Given the description of an element on the screen output the (x, y) to click on. 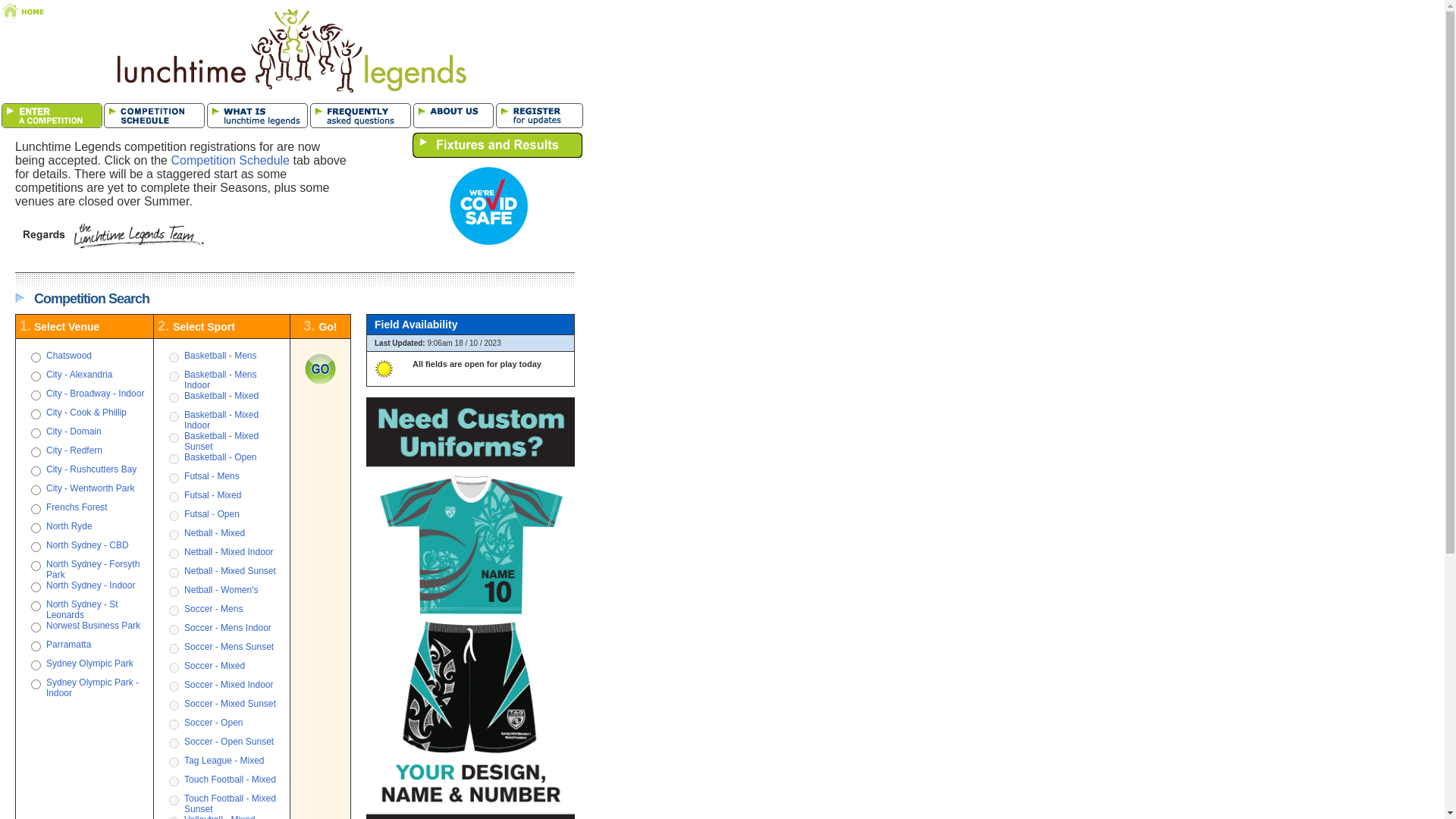
Basketball - Open Element type: text (220, 456)
City - Rushcutters Bay Element type: text (91, 469)
199943 Element type: text (35, 414)
Soccer - Mens Indoor Element type: text (227, 627)
Futsal - Open Element type: text (211, 513)
Netball - Women's Element type: text (220, 589)
10002 Element type: text (35, 627)
49686 Element type: text (35, 587)
238589 Element type: text (35, 452)
North Sydney - Indoor Element type: text (90, 585)
Regards The Lunchtime Legends Team Element type: hover (110, 236)
Basketball - Mixed Sunset Element type: text (221, 440)
127 Element type: text (35, 357)
294565 Element type: text (35, 547)
83 Element type: text (35, 433)
Soccer - Open Sunset Element type: text (228, 741)
Competition Schedule Element type: text (229, 159)
294566 Element type: text (35, 606)
126 Element type: text (35, 665)
City - Alexandria Element type: text (79, 374)
Netball - Mixed Sunset Element type: text (230, 570)
Soccer - Open Element type: text (213, 722)
City - Broadway - Indoor Element type: text (95, 393)
Soccer - Mixed Sunset Element type: text (230, 703)
49593 Element type: text (35, 490)
City - Redfern Element type: text (74, 450)
Basketball - Mixed Indoor Element type: text (221, 419)
Tag League - Mixed Element type: text (223, 760)
49674 Element type: text (35, 471)
We are a COVID Safe Business Element type: hover (479, 243)
Parramatta Element type: text (68, 644)
Futsal - Mixed Element type: text (212, 494)
North Ryde Element type: text (69, 525)
Touch Football - Mixed Element type: text (230, 779)
Netball - Mixed Indoor Element type: text (228, 551)
125 Element type: text (35, 509)
North Sydney - Forsyth Park Element type: text (92, 569)
Netball - Mixed Element type: text (214, 532)
49675 Element type: text (35, 395)
Norwest Business Park Element type: text (93, 625)
City - Cook & Phillip Element type: text (86, 412)
Touch Football - Mixed Sunset Element type: text (230, 803)
Basketball - Mens Indoor Element type: text (220, 379)
Sydney Olympic Park - Indoor Element type: text (92, 687)
Basketball - Mens Element type: text (220, 355)
Soccer - Mixed Indoor Element type: text (228, 684)
North Sydney - CBD Element type: text (87, 544)
City - Domain Element type: text (73, 431)
49685 Element type: text (35, 566)
124 Element type: text (35, 646)
Basketball - Mixed Element type: text (221, 395)
50216 Element type: text (35, 376)
Chatswood Element type: text (68, 355)
Soccer - Mens Element type: text (213, 608)
123 Element type: text (35, 528)
62929 Element type: text (35, 684)
City - Wentworth Park Element type: text (90, 488)
Soccer - Mens Sunset Element type: text (228, 646)
Soccer - Mixed Element type: text (214, 665)
North Sydney - St Leonards Element type: text (82, 609)
We are a COVID Safe Business Element type: hover (488, 205)
Futsal - Mens Element type: text (211, 475)
Sydney Olympic Park Element type: text (89, 663)
Frenchs Forest Element type: text (76, 507)
